Given the description of an element on the screen output the (x, y) to click on. 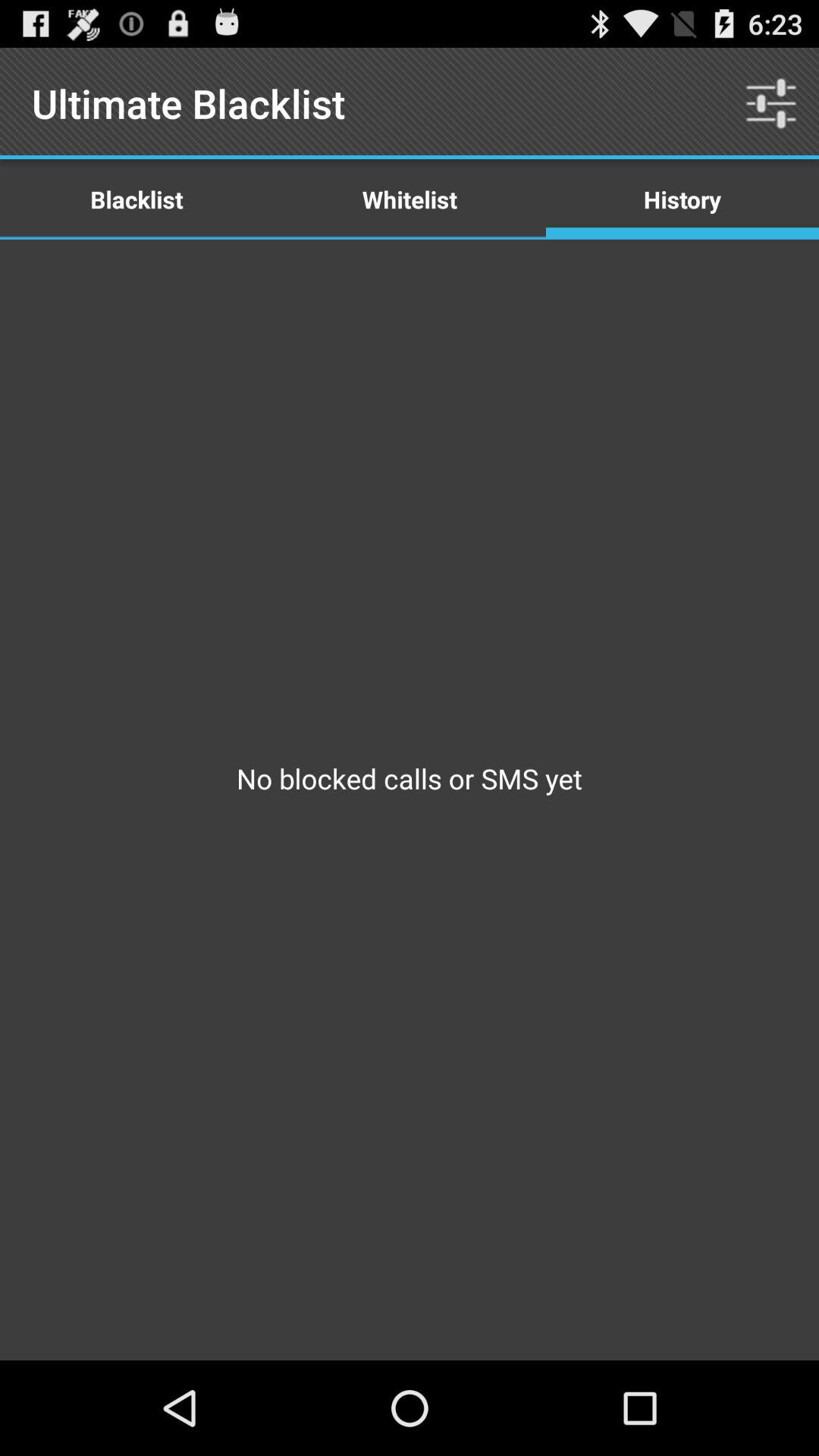
launch the icon to the right of blacklist (409, 199)
